Given the description of an element on the screen output the (x, y) to click on. 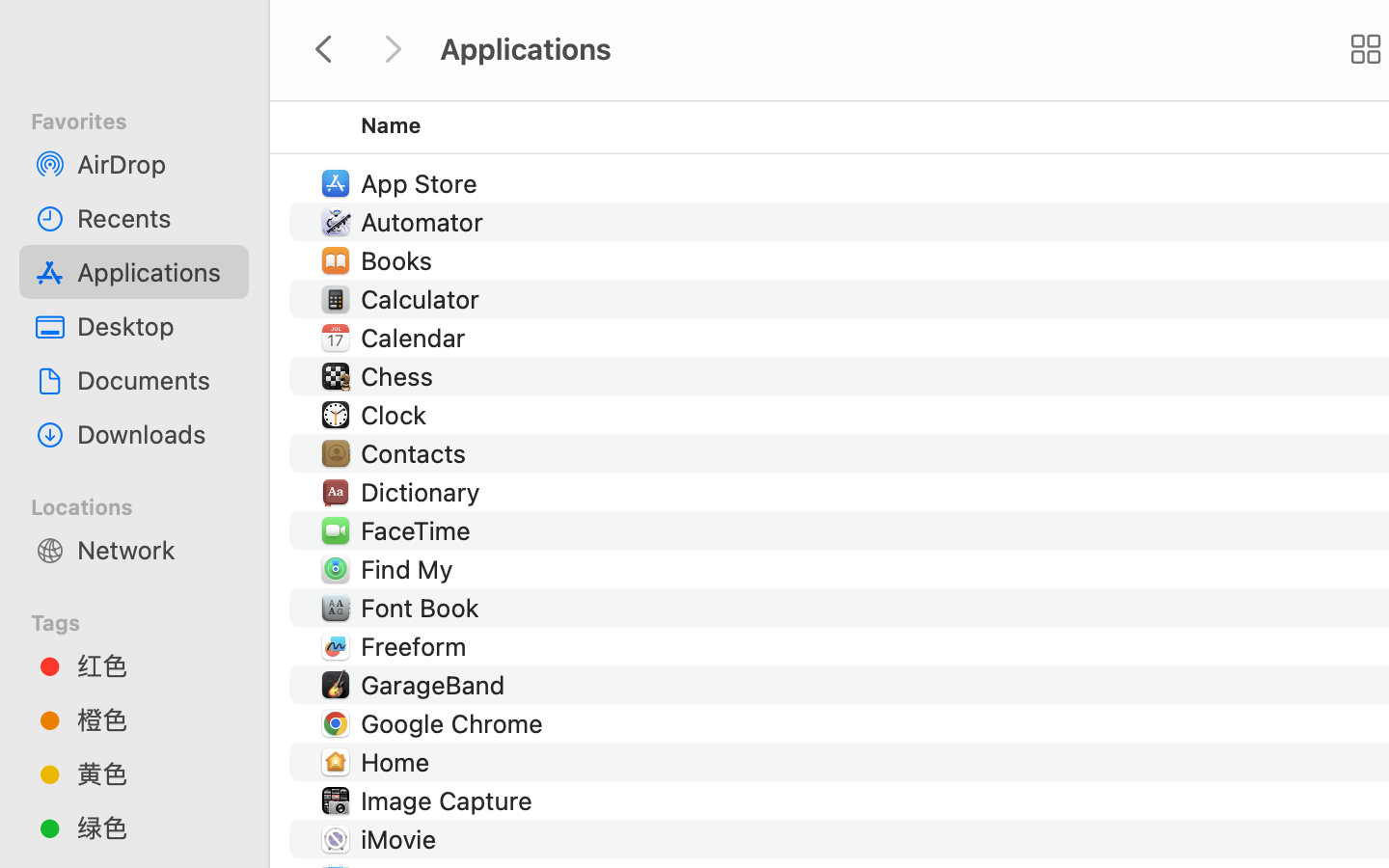
Documents Element type: AXStaticText (155, 379)
Calendar Element type: AXTextField (417, 337)
Downloads Element type: AXStaticText (155, 433)
